Given the description of an element on the screen output the (x, y) to click on. 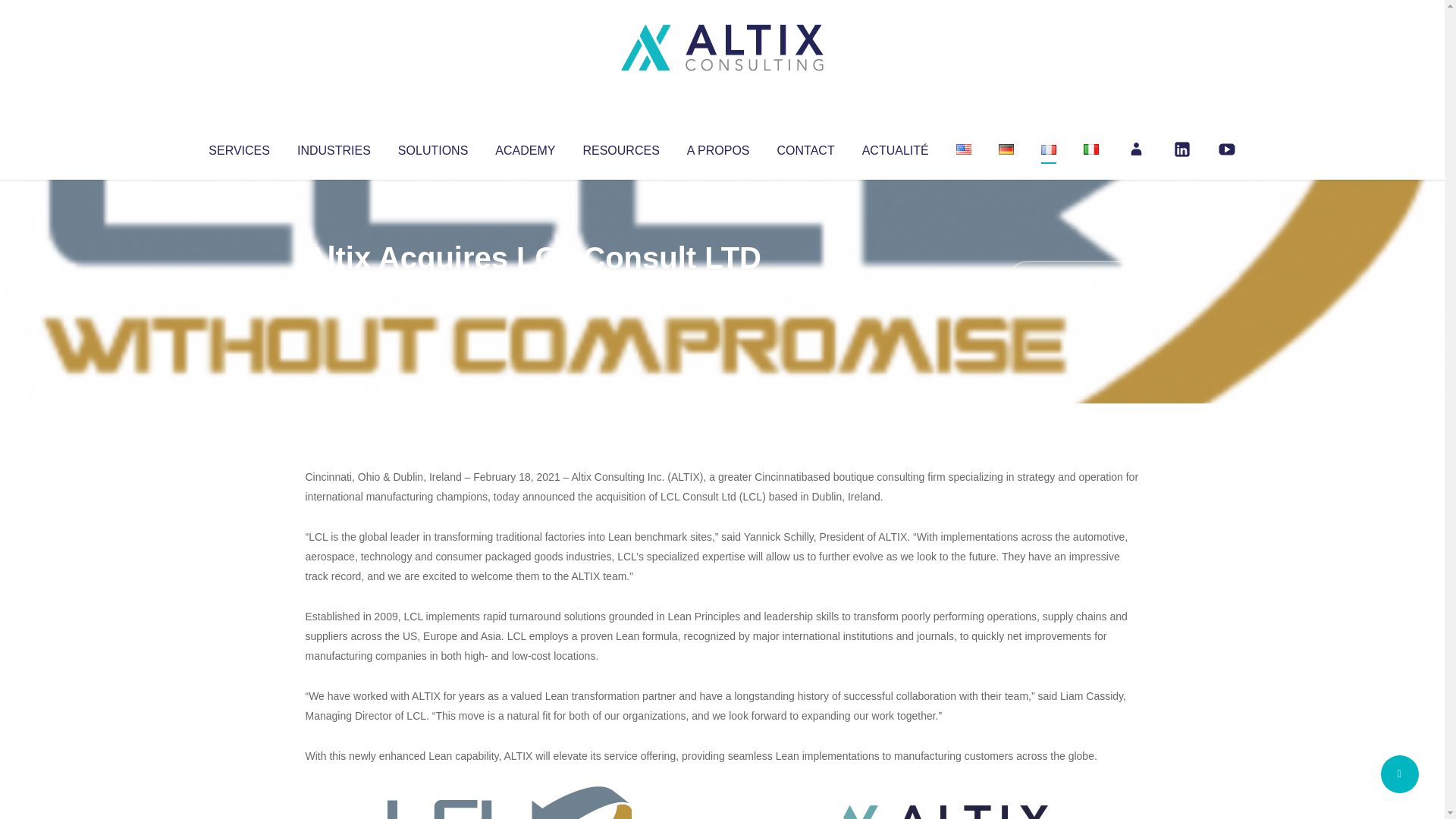
Articles par Altix (333, 287)
RESOURCES (620, 146)
ACADEMY (524, 146)
No Comments (1073, 278)
SOLUTIONS (432, 146)
A PROPOS (718, 146)
Altix (333, 287)
Uncategorized (530, 287)
INDUSTRIES (334, 146)
SERVICES (238, 146)
